Given the description of an element on the screen output the (x, y) to click on. 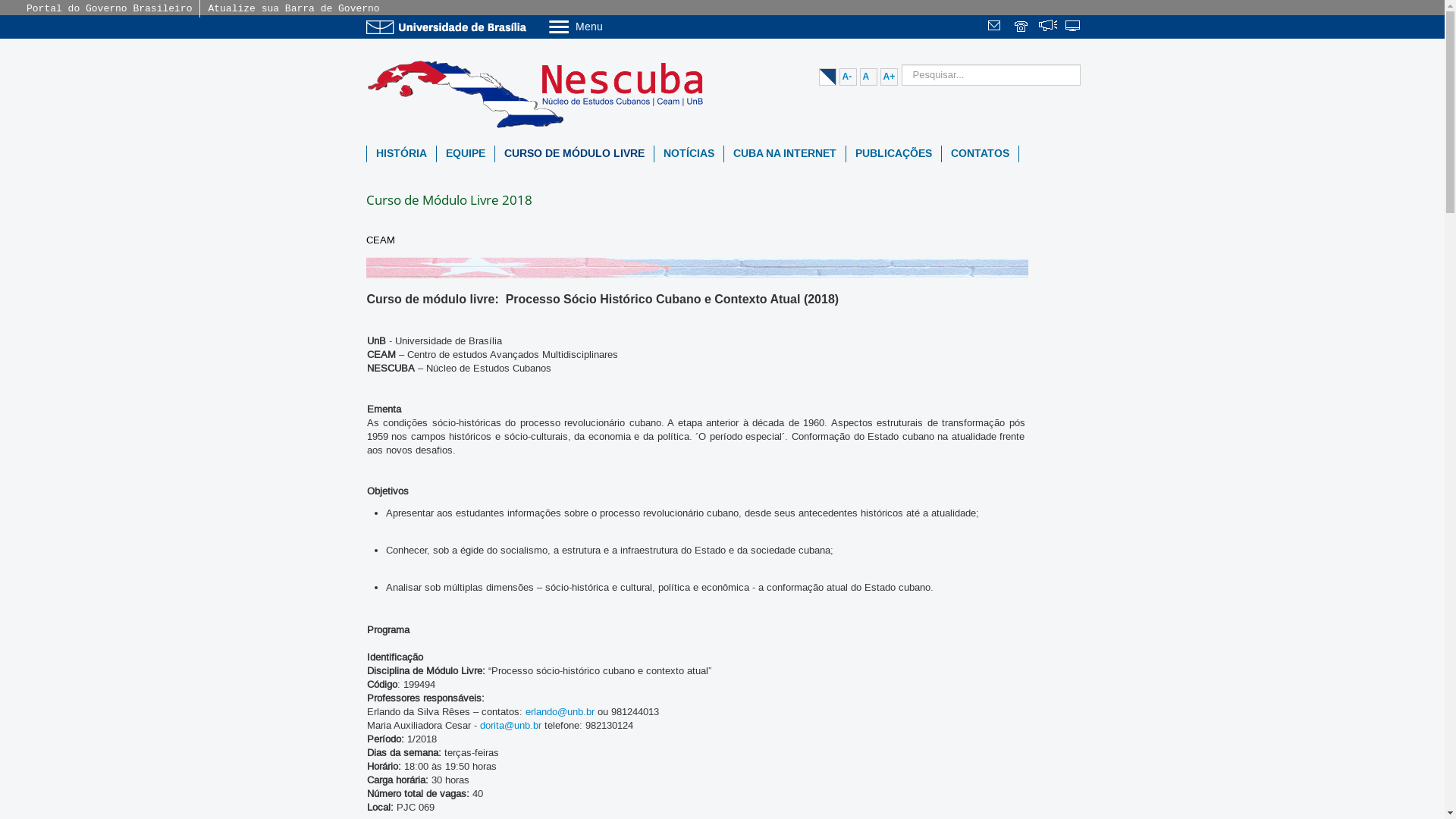
Fala.BR Element type: hover (1047, 27)
Telefones da UnB Element type: hover (1022, 27)
A- Element type: text (847, 76)
  Element type: text (1047, 27)
Webmail Element type: hover (996, 27)
  Element type: text (1073, 27)
dorita@unb.br Element type: text (509, 725)
Atualize sua Barra de Governo Element type: text (293, 8)
A Element type: text (868, 76)
CONTATOS Element type: text (979, 153)
Ir para o Portal da UnB Element type: hover (448, 26)
  Element type: text (1022, 27)
erlando@unb.br Element type: text (558, 712)
EQUIPE Element type: text (465, 153)
Portal do Governo Brasileiro Element type: text (108, 8)
Sistemas Element type: hover (1073, 27)
CUBA NA INTERNET Element type: text (783, 153)
Menu Element type: text (613, 25)
  Element type: text (996, 27)
A+ Element type: text (888, 76)
